Given the description of an element on the screen output the (x, y) to click on. 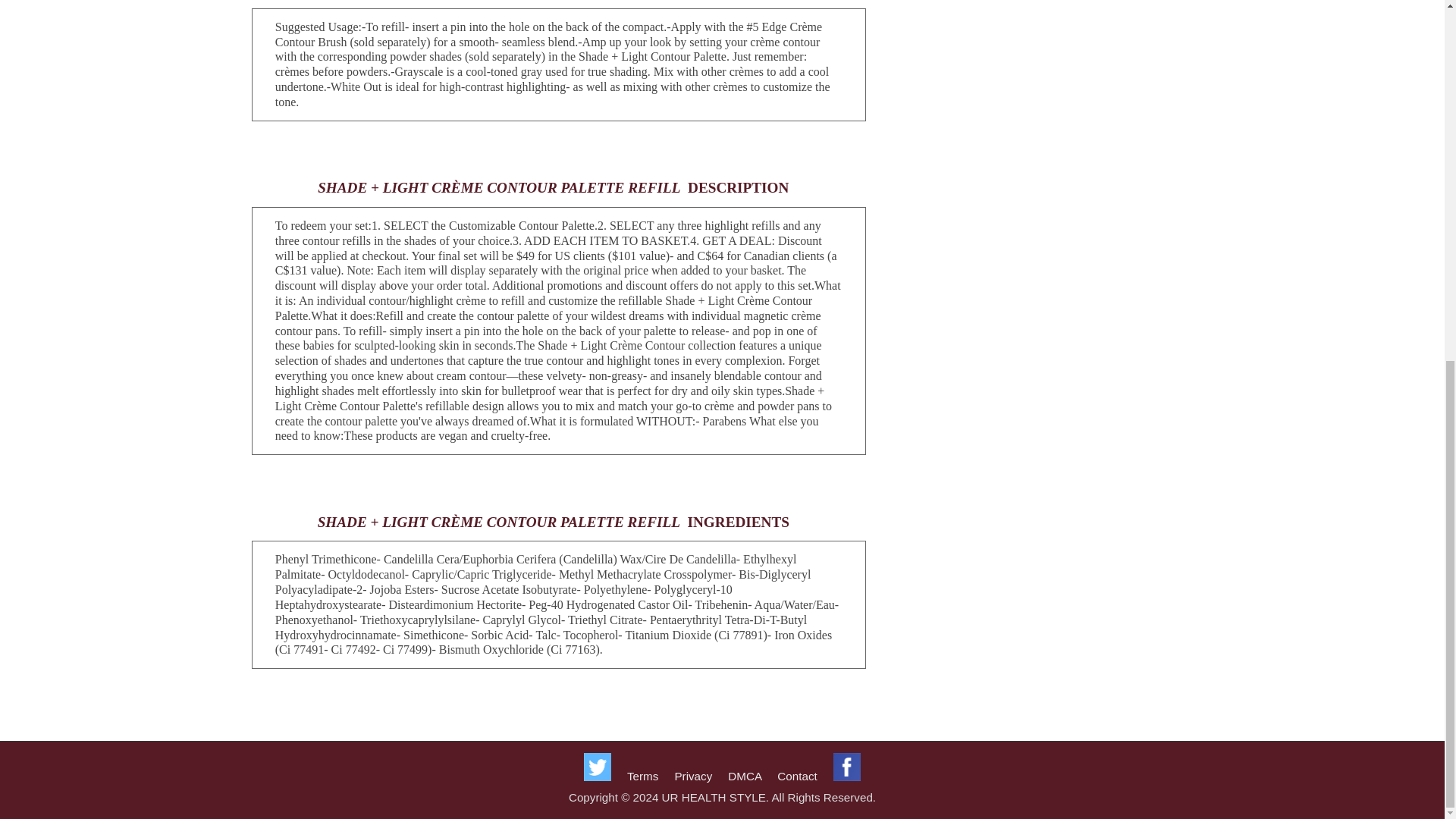
DMCA (744, 776)
Contact (796, 776)
Terms (642, 776)
Privacy (692, 776)
